Given the description of an element on the screen output the (x, y) to click on. 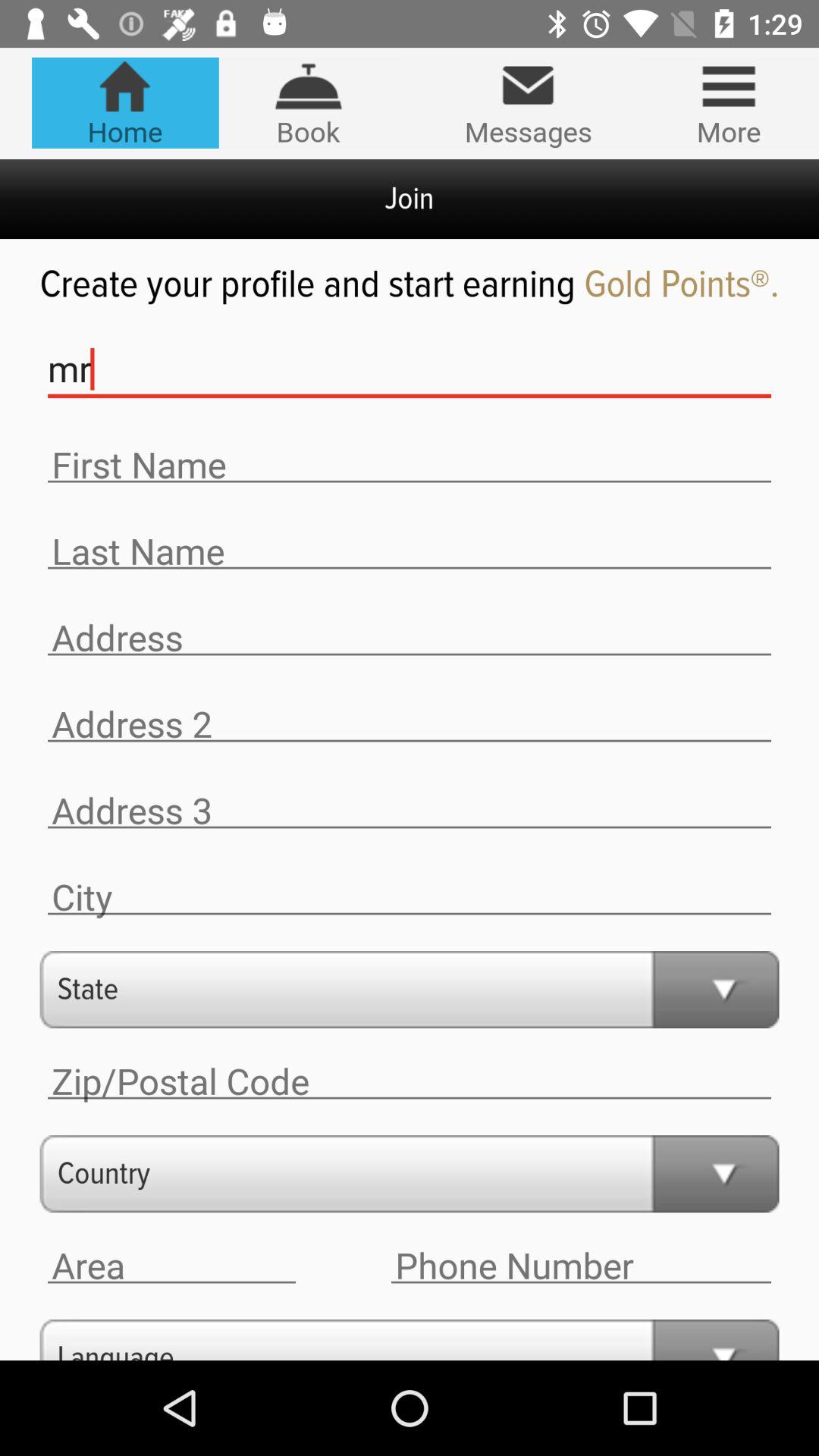
address (409, 638)
